Given the description of an element on the screen output the (x, y) to click on. 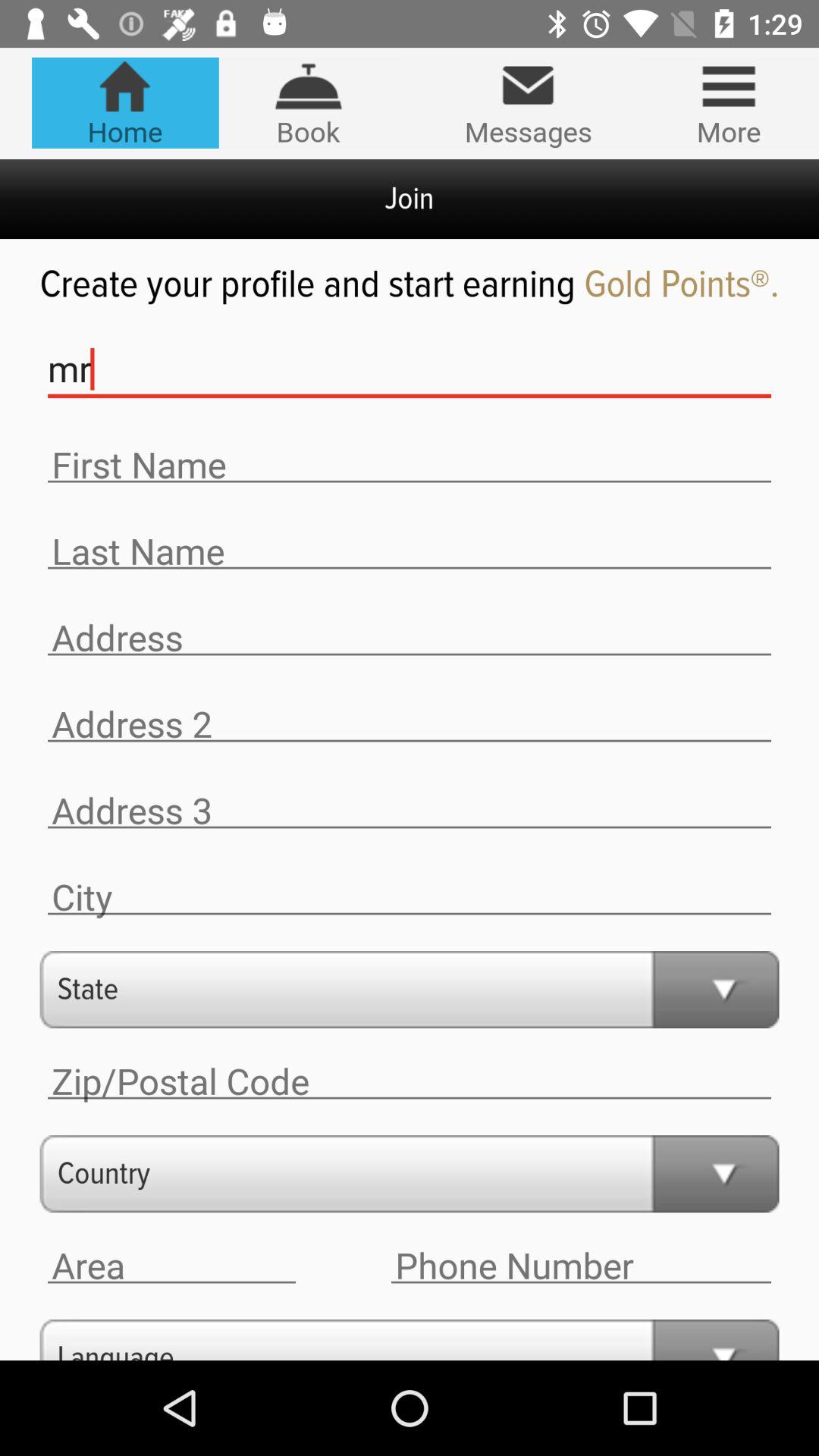
address (409, 638)
